Given the description of an element on the screen output the (x, y) to click on. 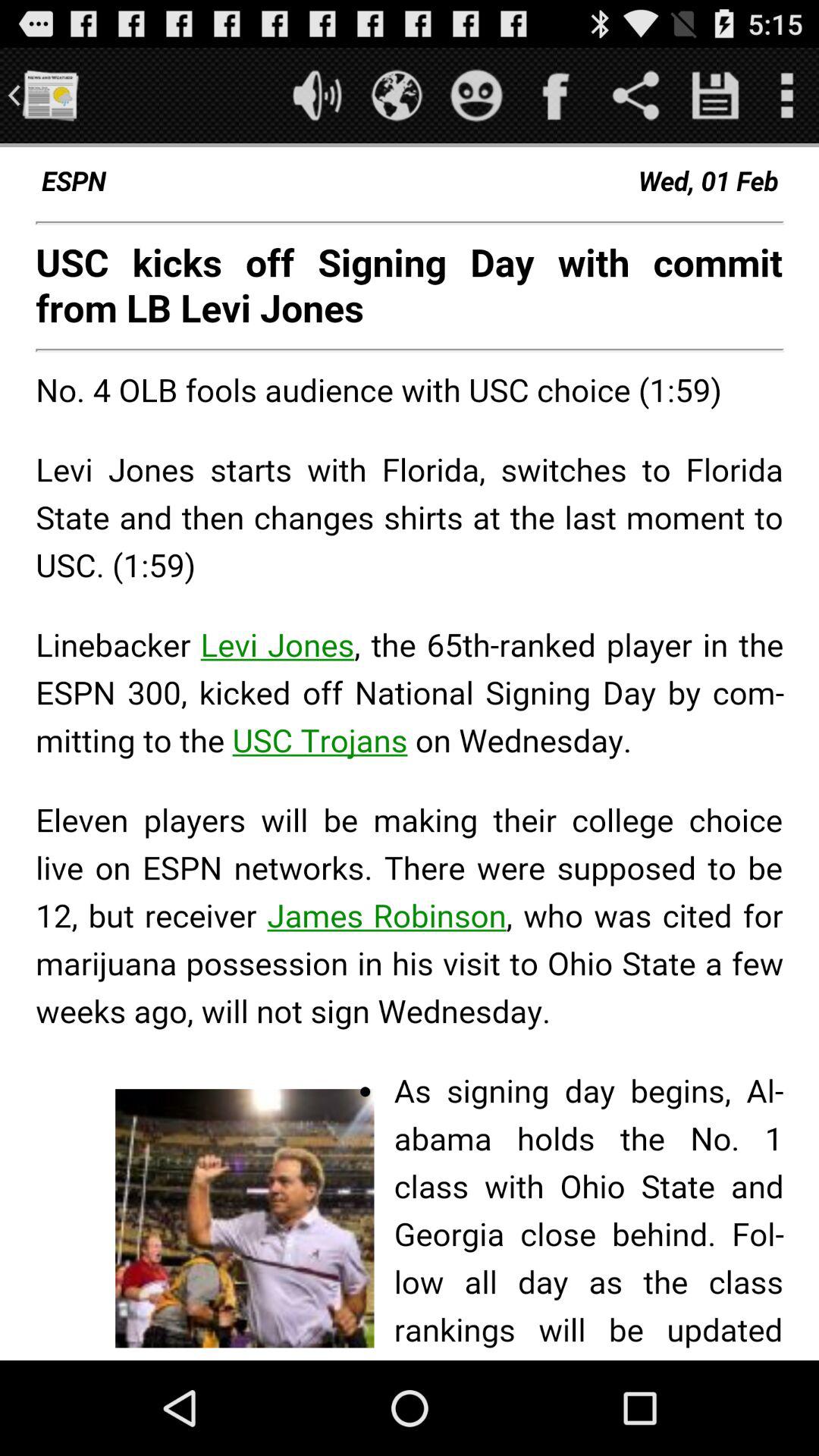
go to news (49, 95)
